Given the description of an element on the screen output the (x, y) to click on. 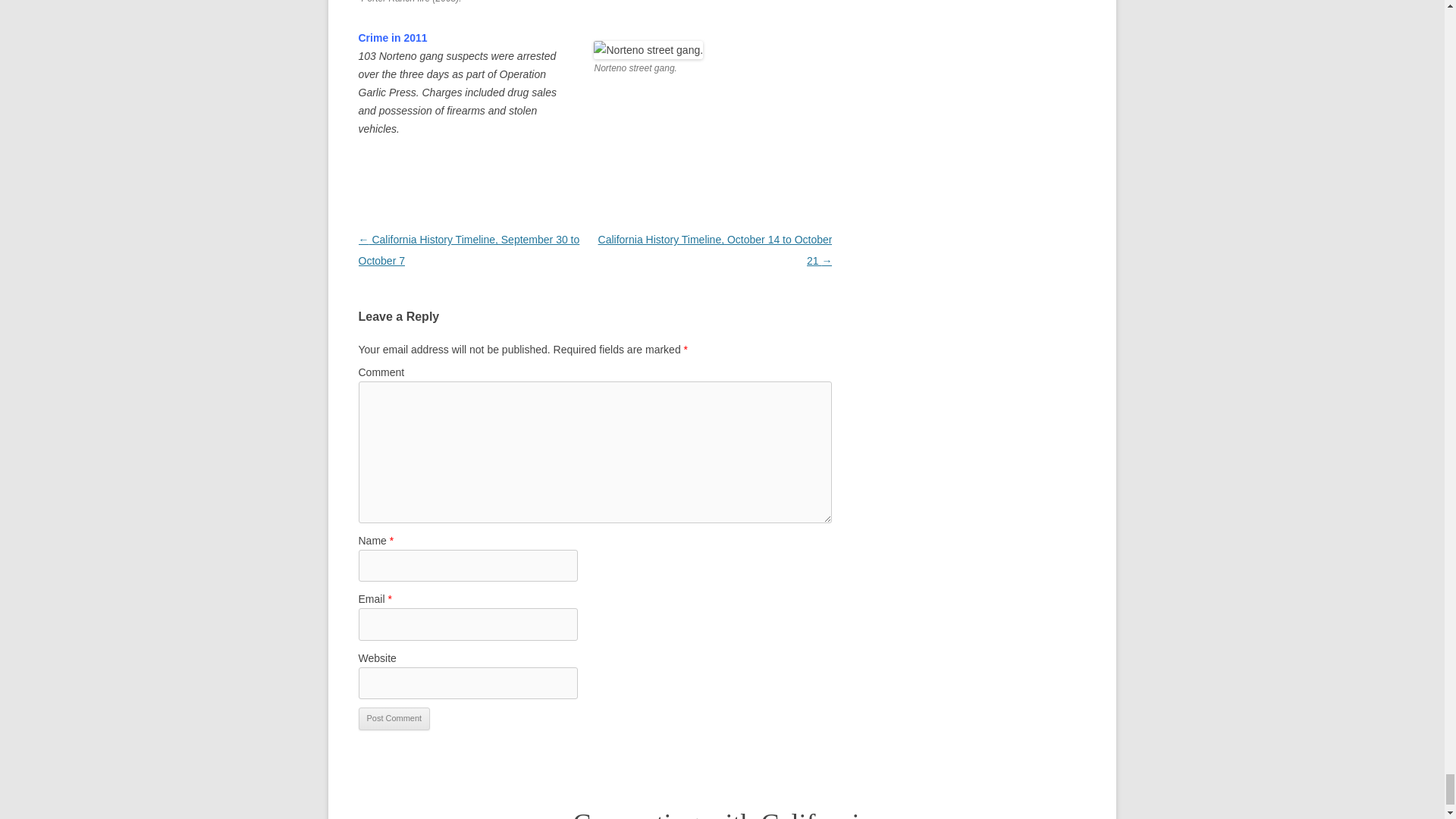
Post Comment (393, 718)
Post Comment (393, 718)
